Given the description of an element on the screen output the (x, y) to click on. 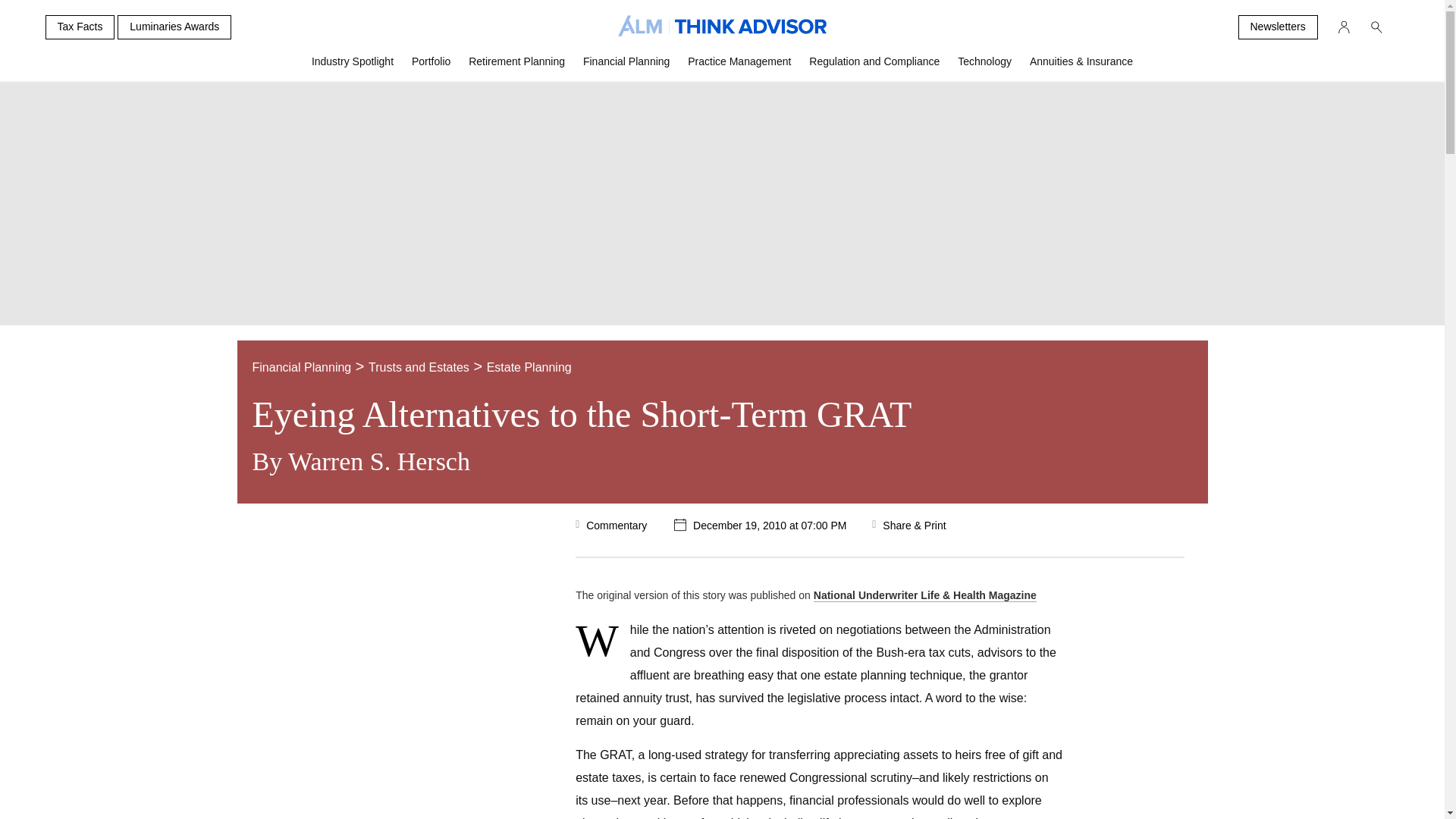
Industry Spotlight (352, 67)
Newsletters (1277, 27)
Luminaries Awards (174, 27)
Tax Facts (80, 27)
